Given the description of an element on the screen output the (x, y) to click on. 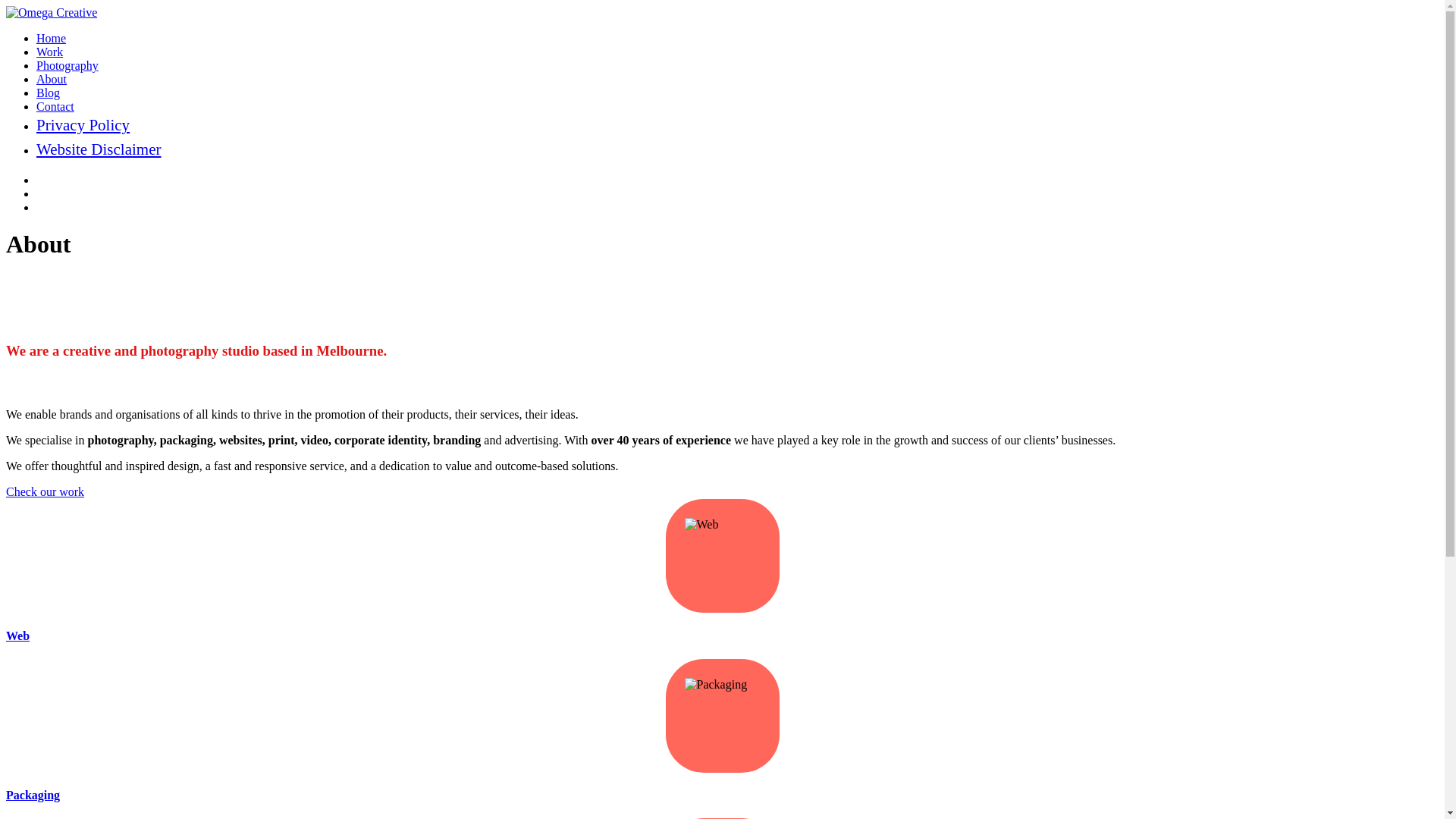
Packaging Element type: text (32, 794)
Privacy Policy Element type: text (82, 125)
Blog Element type: text (47, 92)
Photography Element type: text (67, 65)
Contact Element type: text (55, 106)
Web Element type: text (17, 635)
Home Element type: text (50, 37)
About Element type: text (51, 78)
Work Element type: text (49, 51)
Website Disclaimer Element type: text (98, 148)
Check our work Element type: text (45, 491)
